Given the description of an element on the screen output the (x, y) to click on. 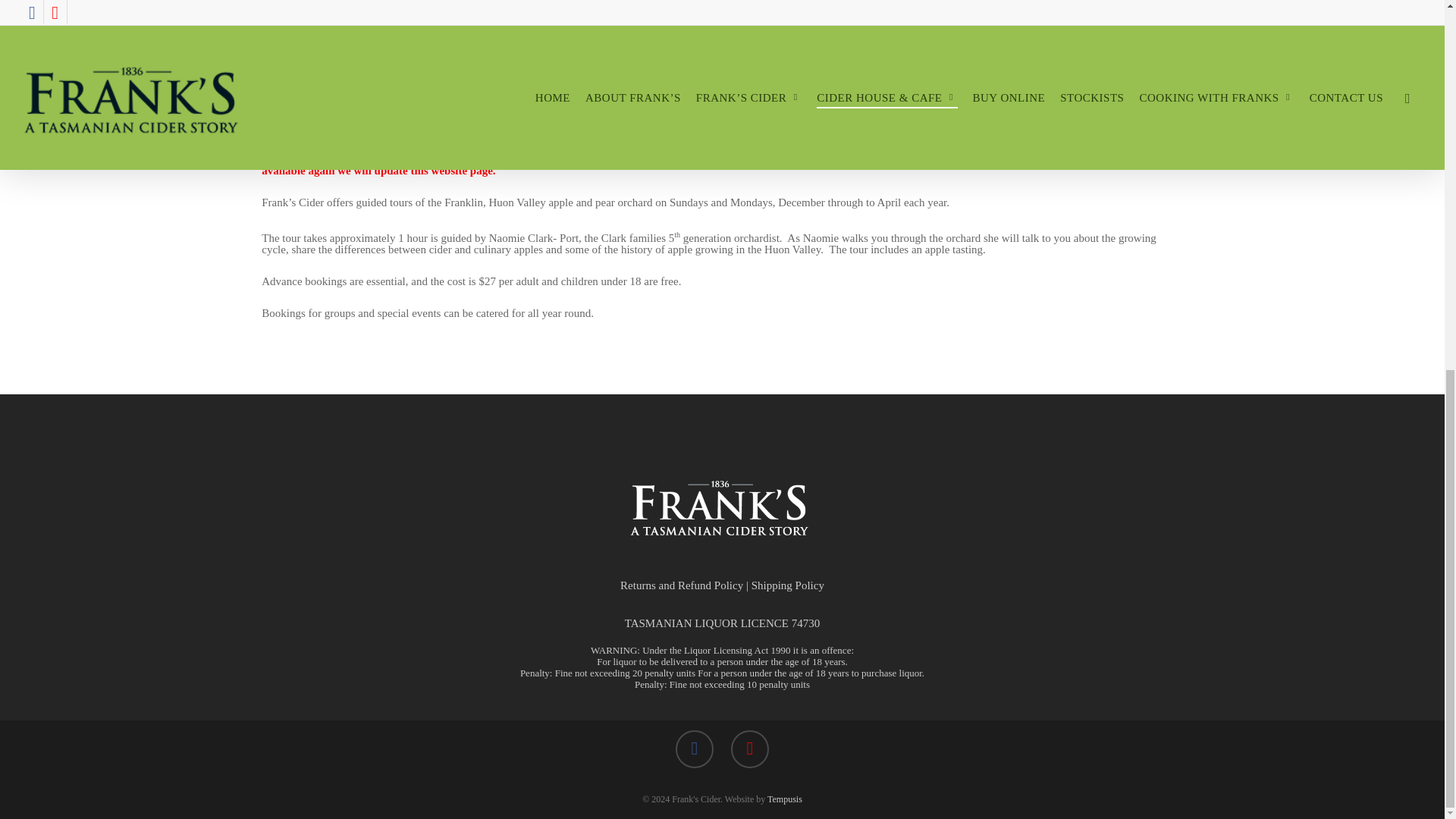
Tempusis (784, 798)
Returns and Refund Policy (681, 585)
Shipping Policy (787, 585)
